Given the description of an element on the screen output the (x, y) to click on. 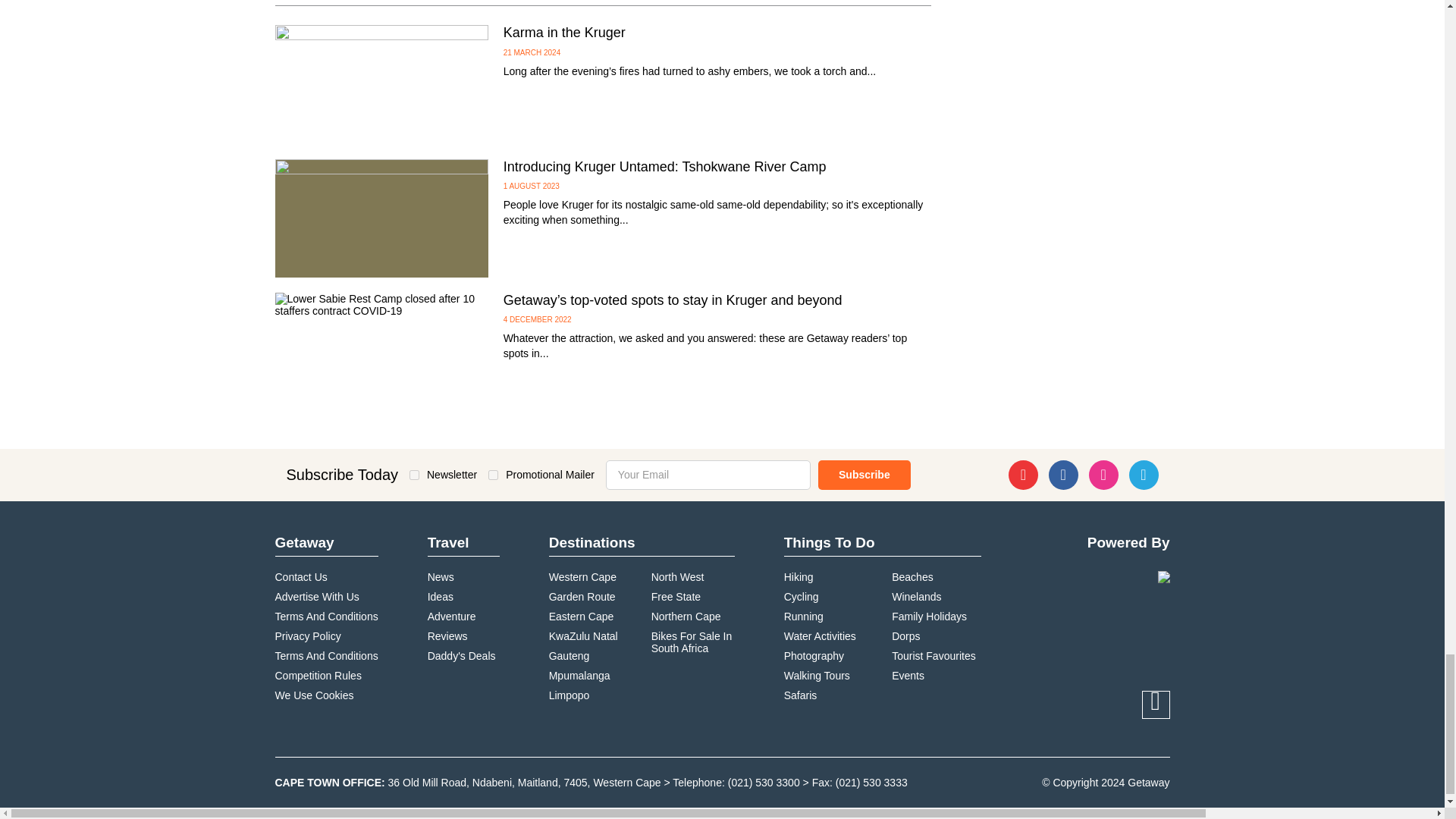
Karma in the Kruger (564, 32)
16584 (414, 474)
16572 (492, 474)
Introducing Kruger Untamed: Tshokwane River Camp (665, 166)
Introducing Kruger Untamed: Tshokwane River Camp (381, 217)
Karma in the Kruger (381, 84)
Subscribe (864, 474)
Motorcycles for sale in South Africa (692, 641)
